Given the description of an element on the screen output the (x, y) to click on. 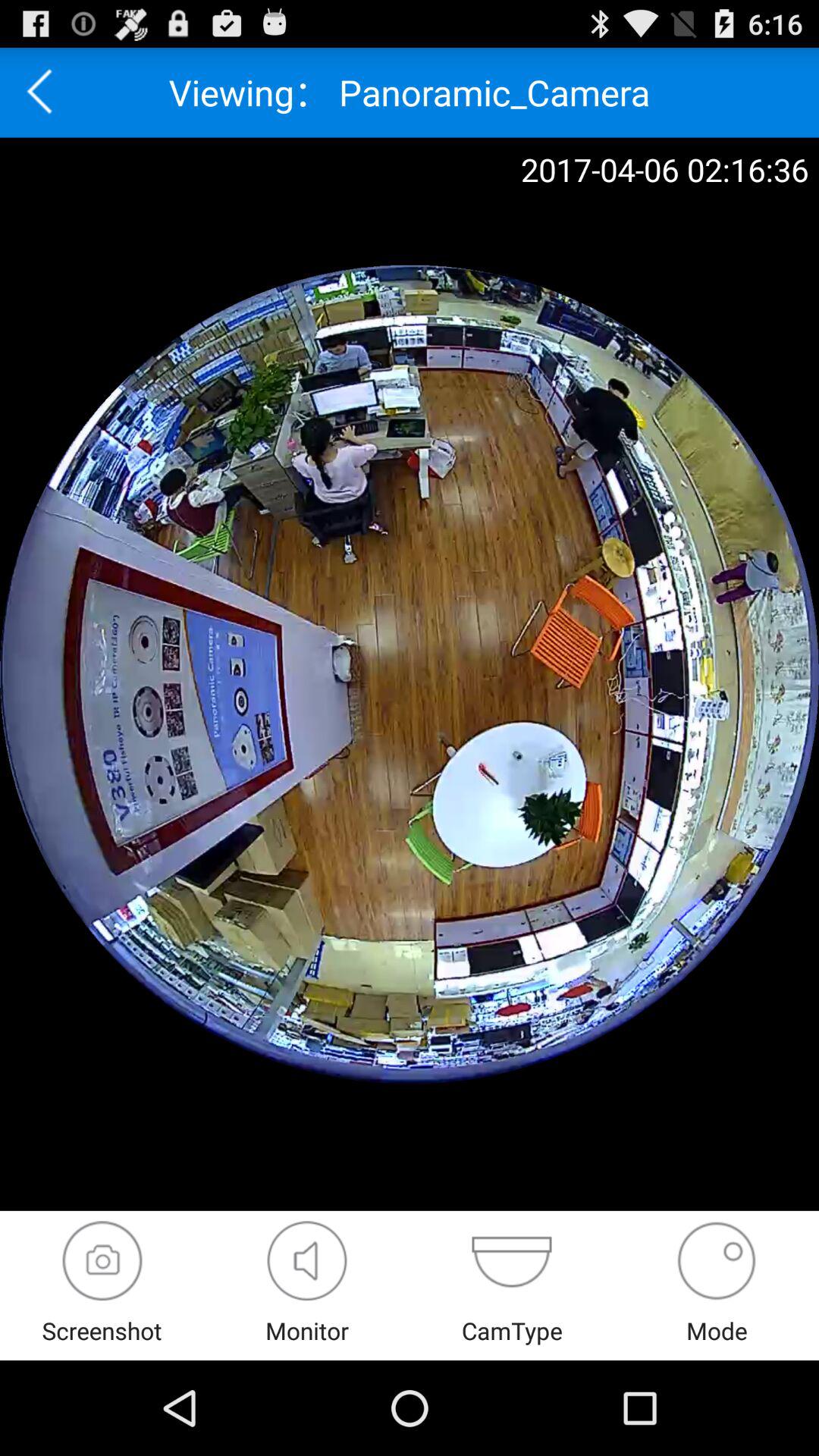
go to back (44, 92)
